Given the description of an element on the screen output the (x, y) to click on. 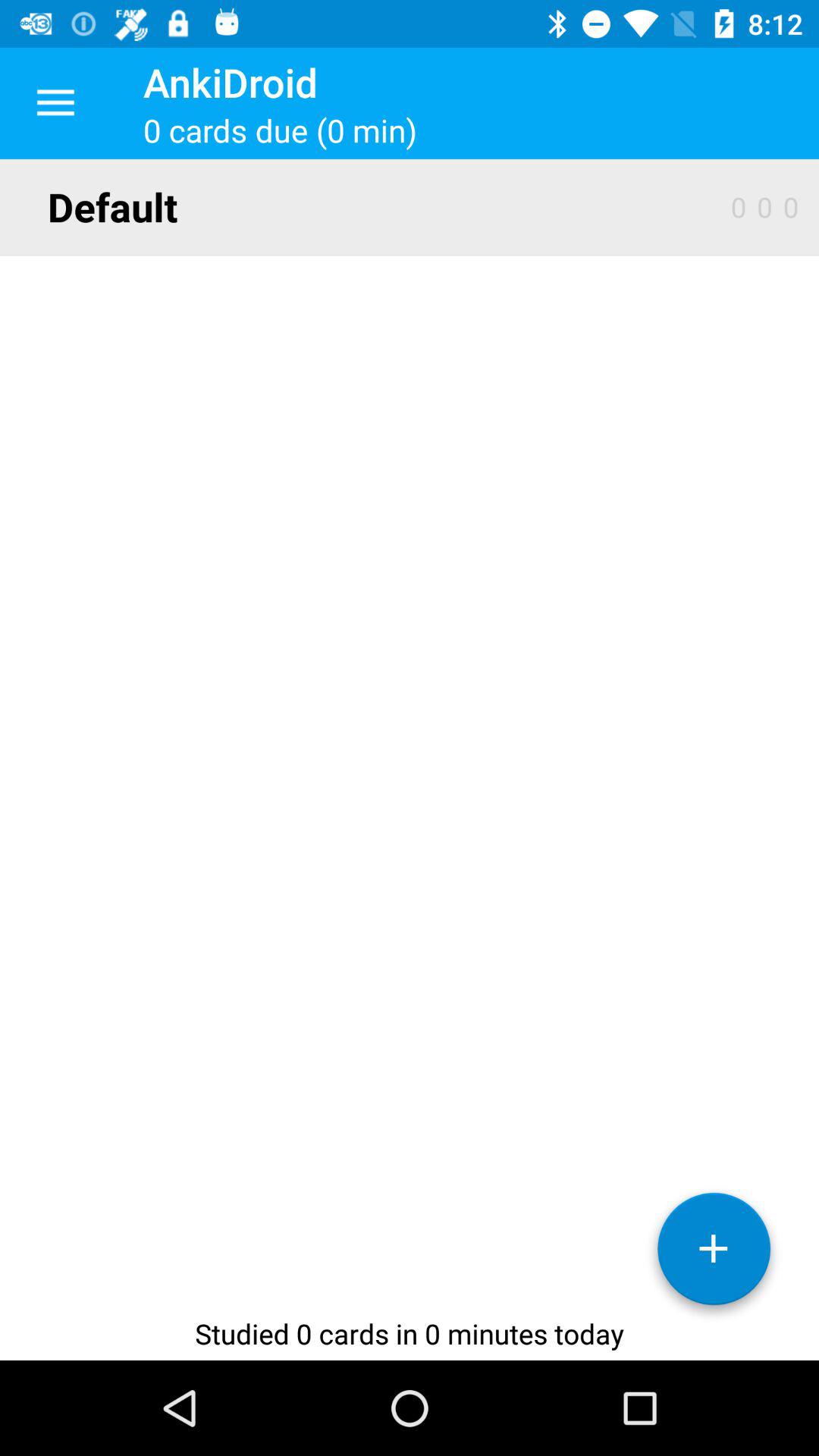
select the icon to the left of ankidroid (55, 103)
